Given the description of an element on the screen output the (x, y) to click on. 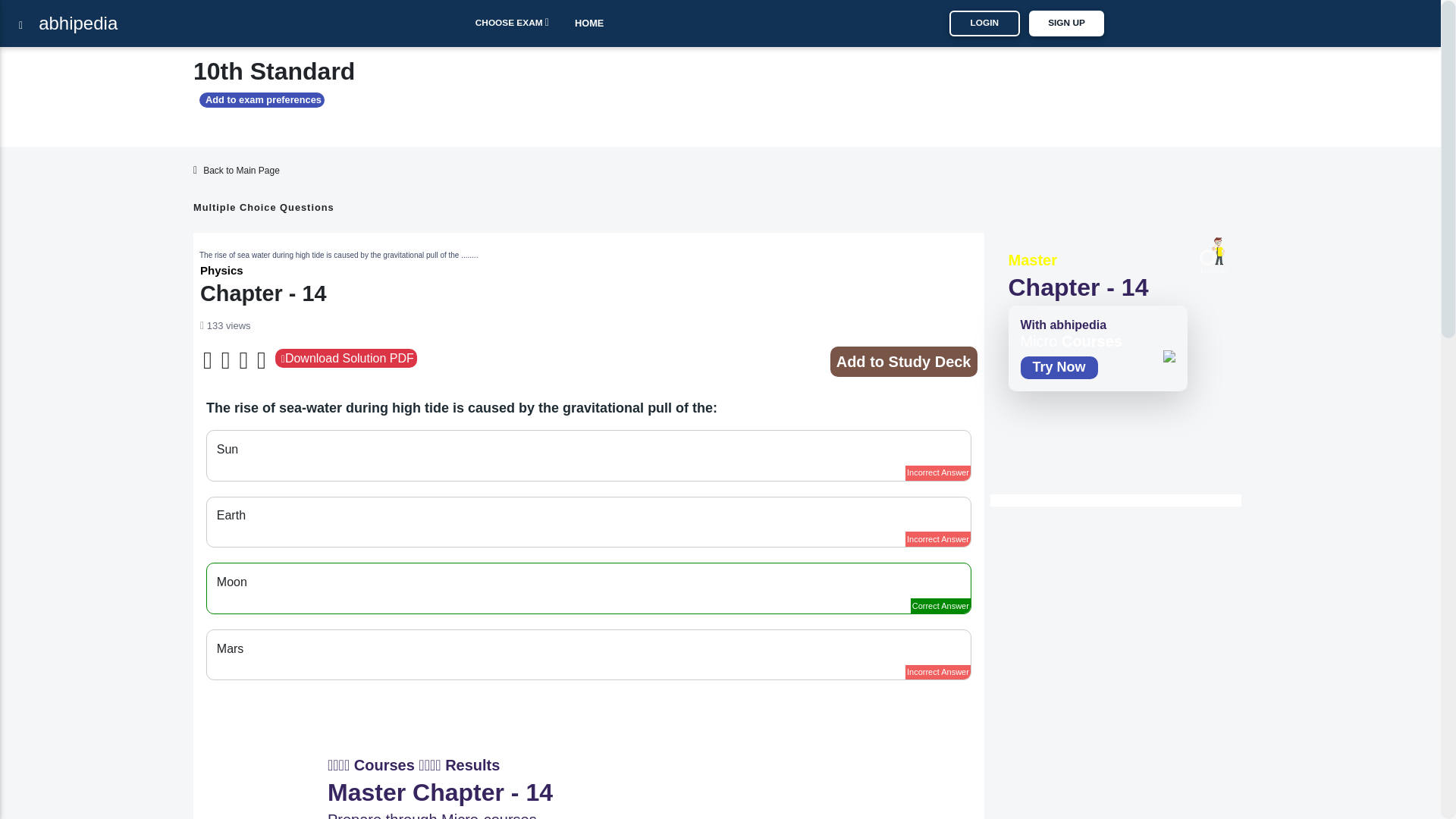
Stop Speak (261, 361)
Resume Speak (242, 361)
Start Speak (207, 361)
Pause Speak (225, 361)
Printer Friendly and PDF (345, 357)
